Given the description of an element on the screen output the (x, y) to click on. 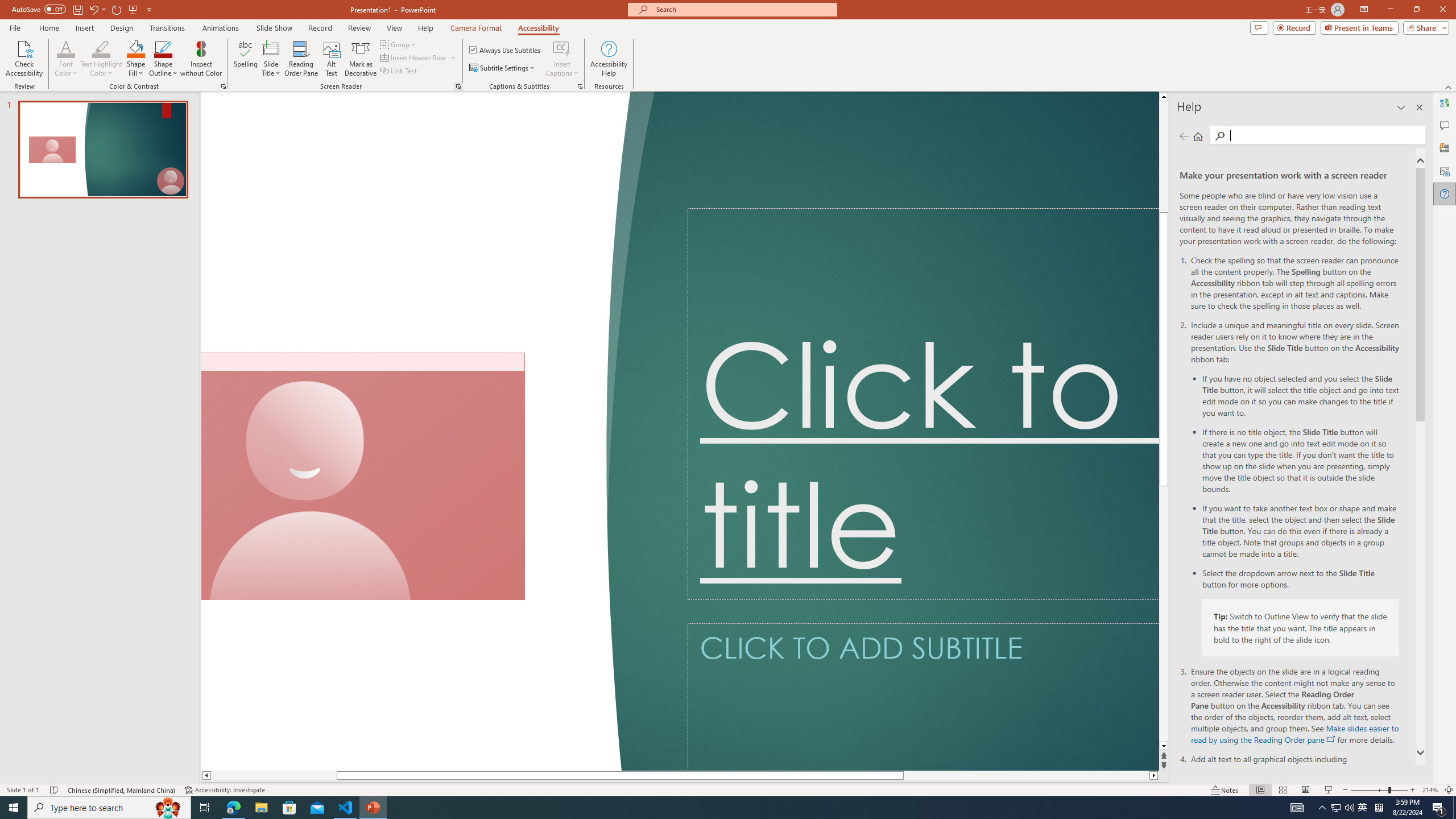
Previous page (1183, 136)
Slide Title (271, 58)
